Given the description of an element on the screen output the (x, y) to click on. 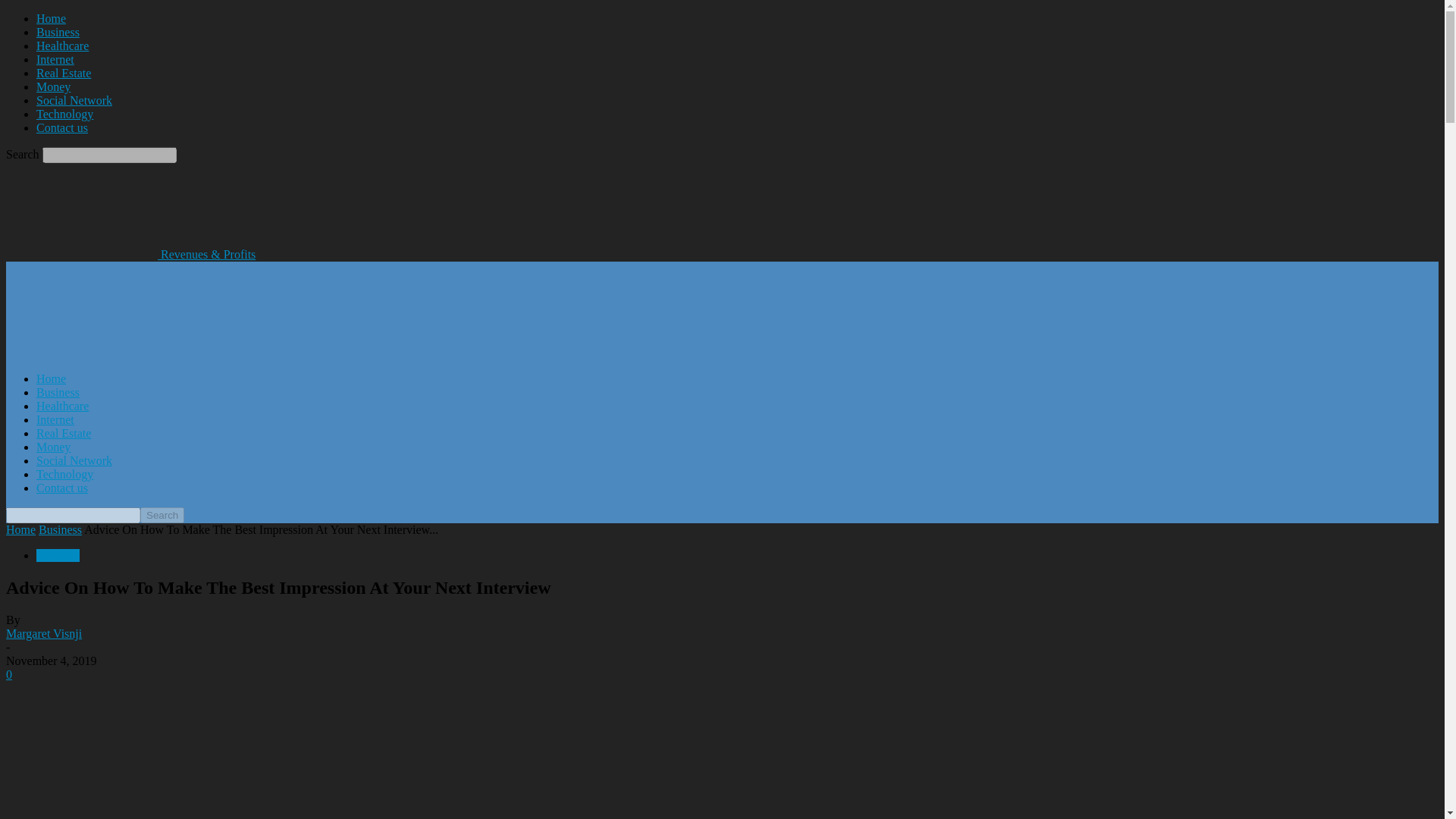
Technology (64, 113)
Money (52, 446)
Real Estate (63, 432)
Social Network (74, 460)
Business (58, 391)
Business (58, 31)
Real Estate (63, 72)
Home (50, 18)
Healthcare (62, 45)
Business (58, 554)
Business (60, 529)
Contact us (61, 487)
Home (19, 529)
Margaret Visnji (43, 633)
Home (50, 378)
